Given the description of an element on the screen output the (x, y) to click on. 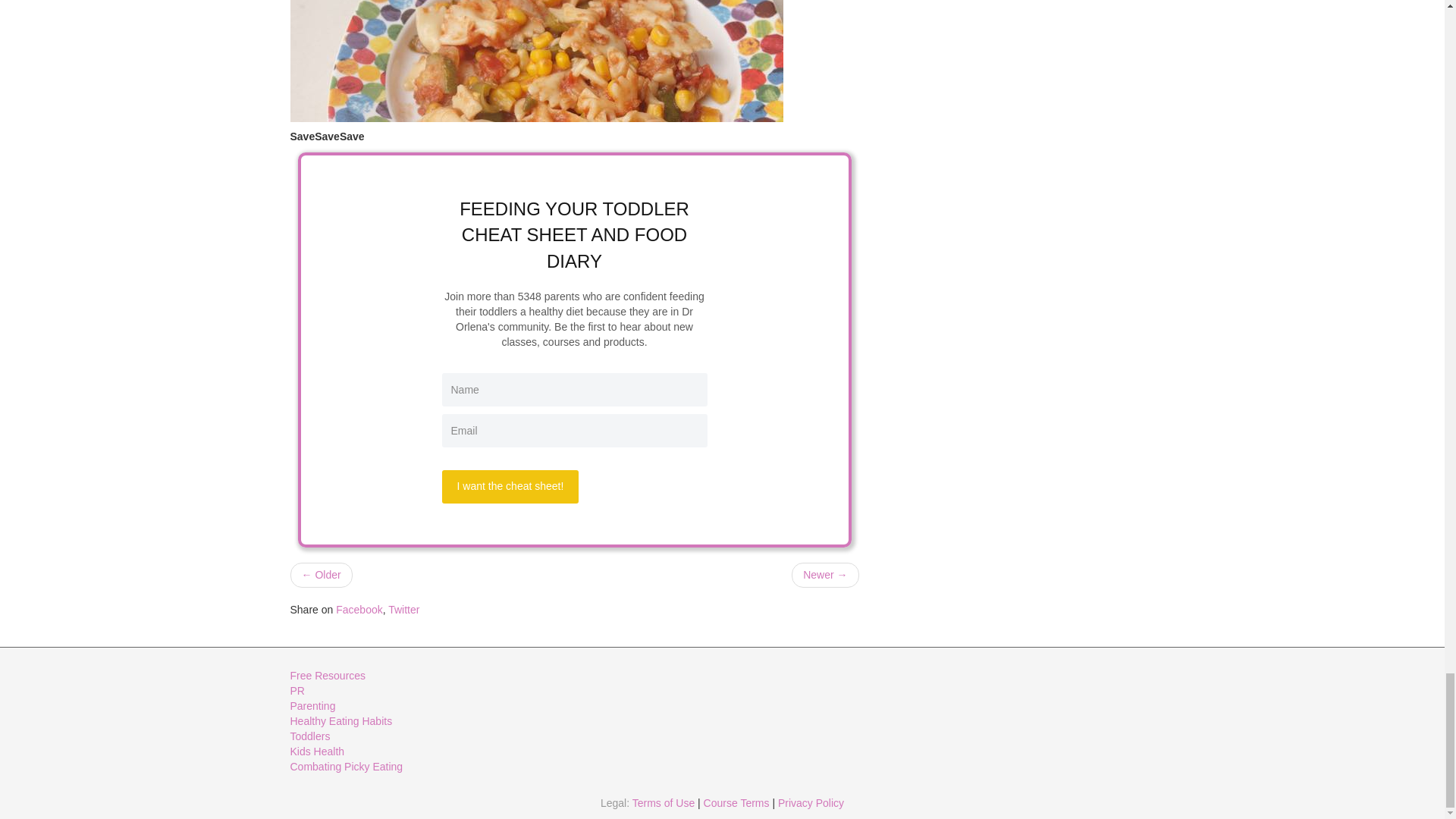
PR (296, 690)
Free Resources (327, 675)
Kids Health (316, 751)
Combating Picky Eating (346, 766)
Course Terms (736, 802)
Facebook (358, 609)
I want the cheat sheet! (509, 486)
12 Easy Ways to Have Dinner Ready When you get Home (536, 61)
5 Fun Ways to Help Your Kids Drink Water (320, 575)
Healthy Peach Popsicles (825, 575)
